Given the description of an element on the screen output the (x, y) to click on. 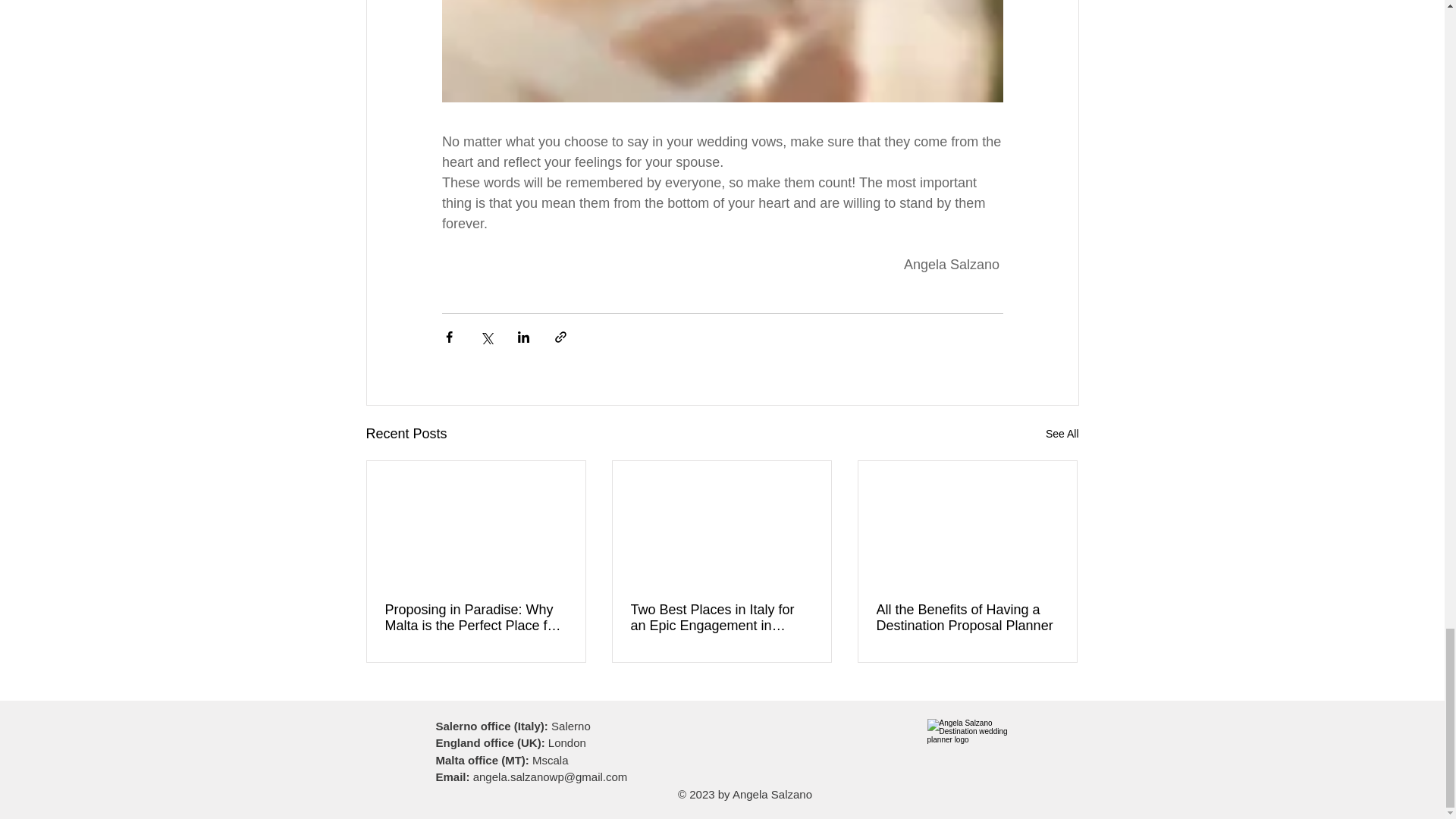
See All (1061, 434)
All the Benefits of Having a Destination Proposal Planner (967, 617)
Two Best Places in Italy for an Epic Engagement in December (721, 617)
